Given the description of an element on the screen output the (x, y) to click on. 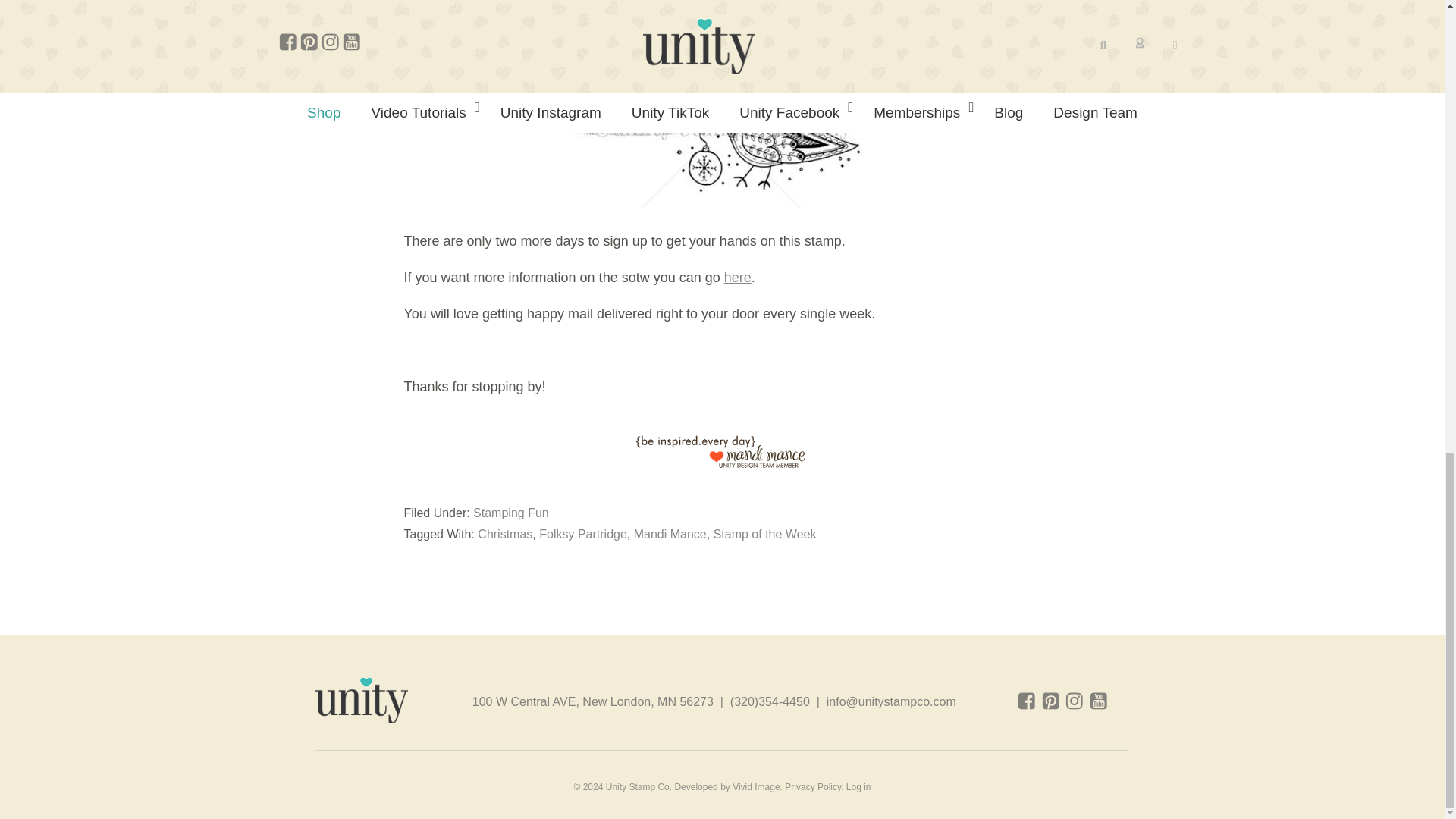
Stamp of the Week (764, 533)
Folksy Partridge (582, 533)
Mandi Mance (669, 533)
here (737, 276)
Christmas (504, 533)
Stamping Fun (510, 512)
